Given the description of an element on the screen output the (x, y) to click on. 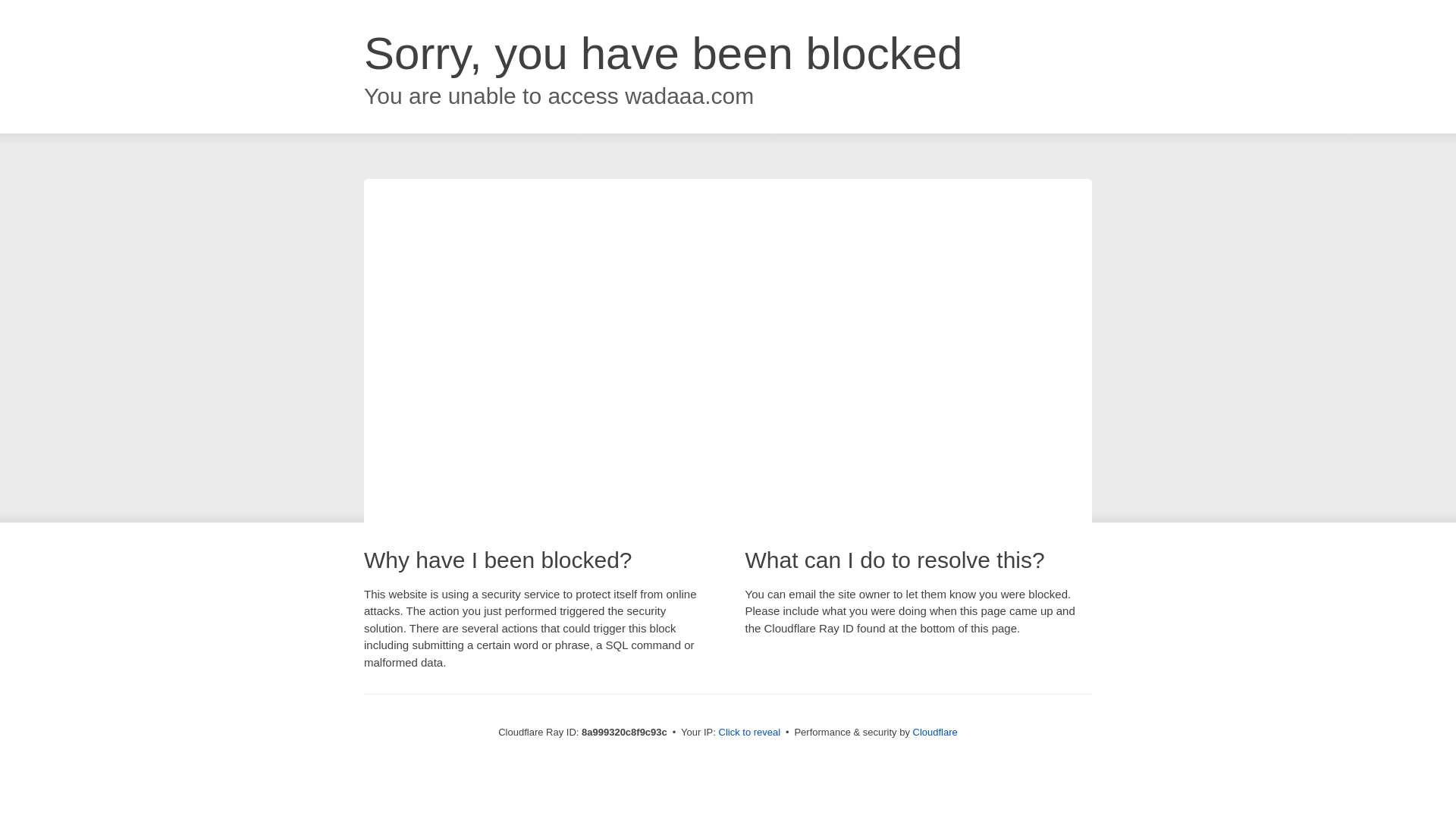
Cloudflare (935, 731)
Click to reveal (749, 732)
